Given the description of an element on the screen output the (x, y) to click on. 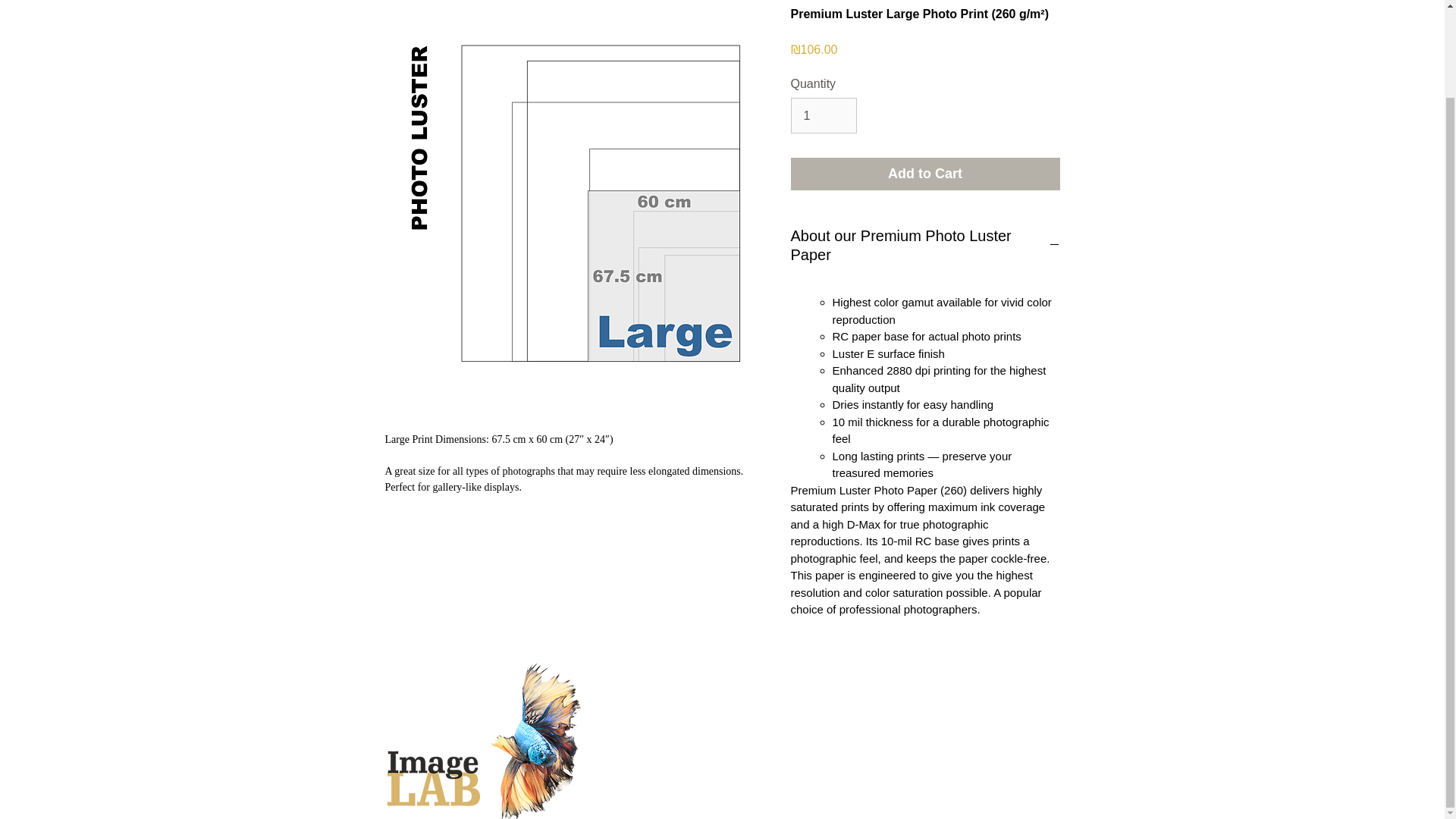
About our Premium Photo Luster Paper (924, 245)
Add to Cart (924, 174)
1 (823, 114)
